Given the description of an element on the screen output the (x, y) to click on. 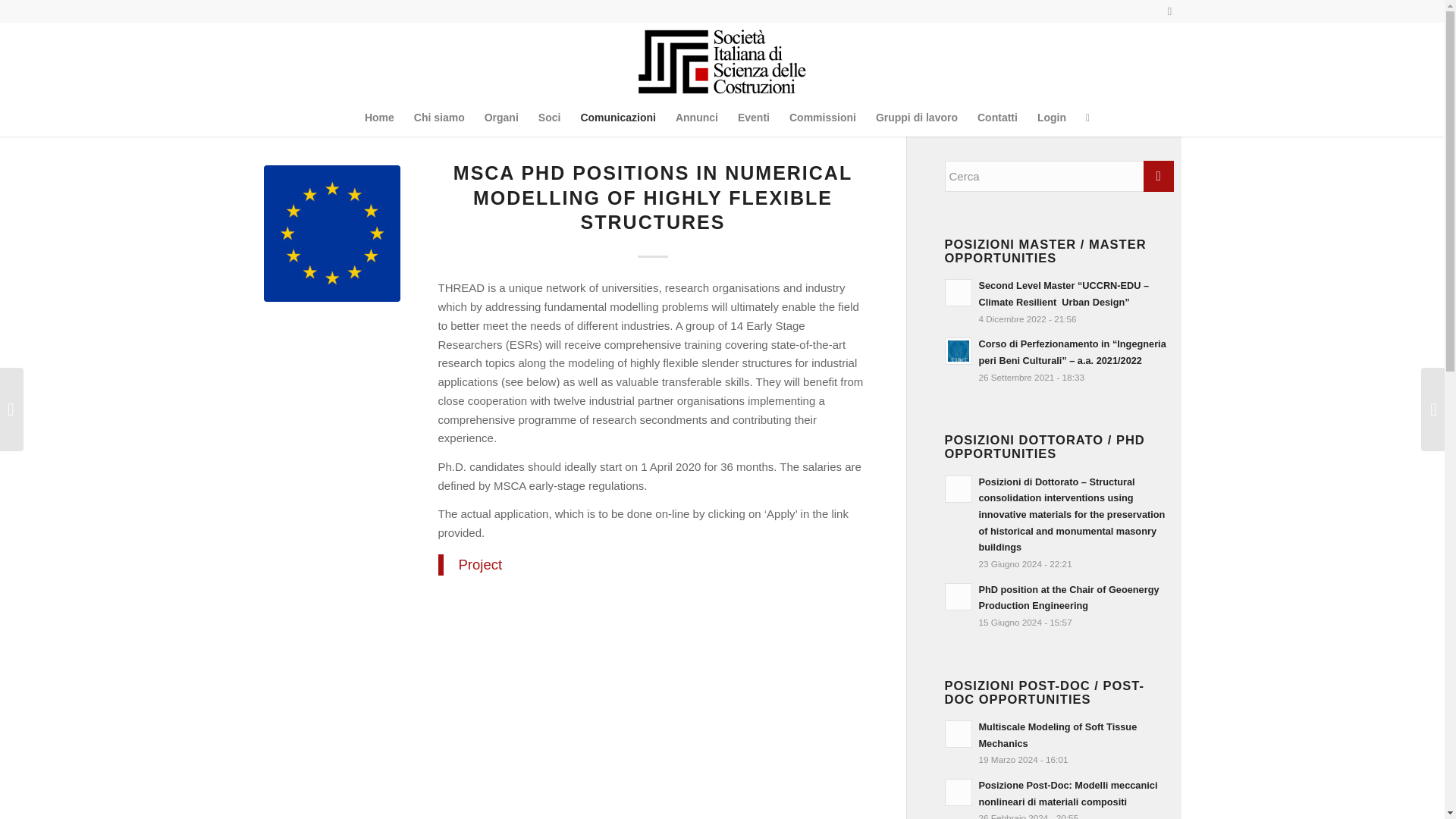
Eventi (753, 117)
Organi (501, 117)
Chi siamo (439, 117)
Comunicazioni (617, 117)
Commissioni (822, 117)
Home (379, 117)
Annunci (696, 117)
Soci (549, 117)
Mail (1169, 11)
